Given the description of an element on the screen output the (x, y) to click on. 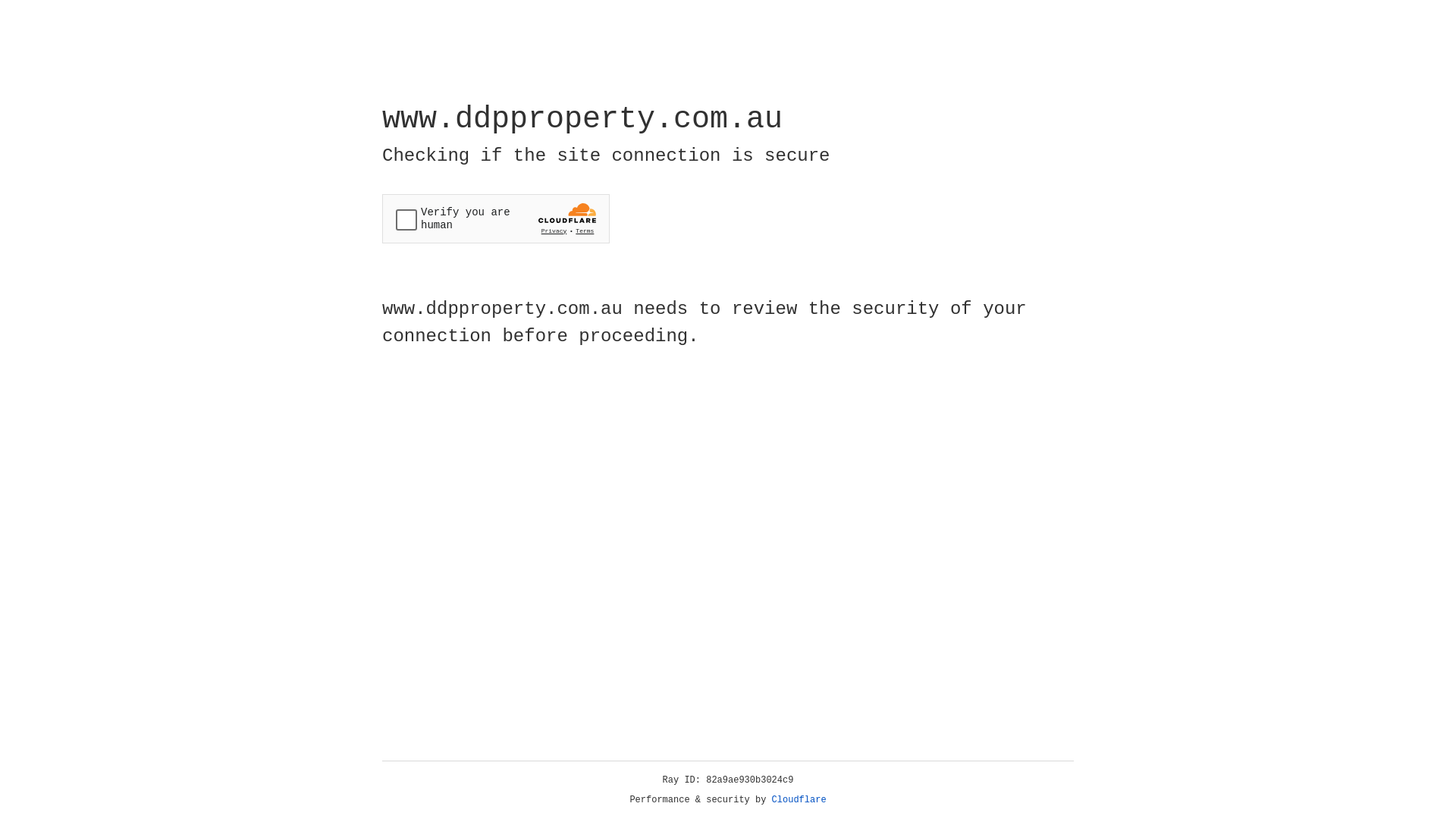
Widget containing a Cloudflare security challenge Element type: hover (495, 218)
Cloudflare Element type: text (798, 799)
